Given the description of an element on the screen output the (x, y) to click on. 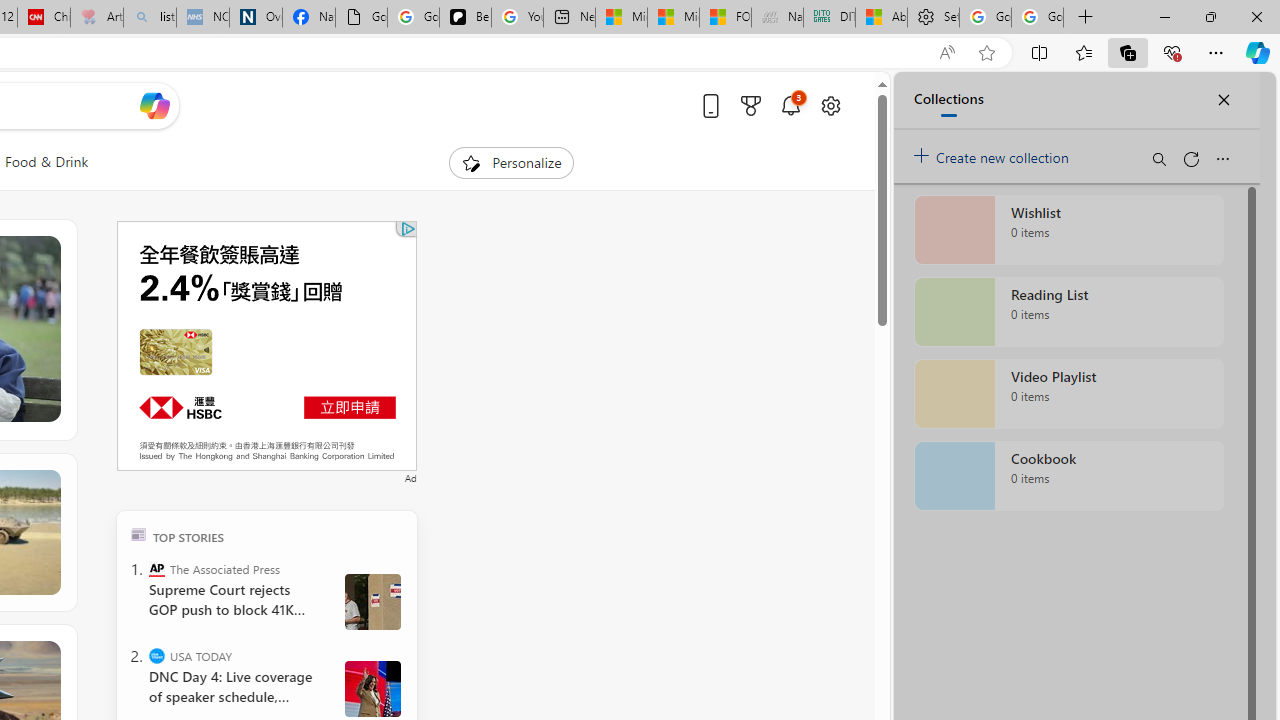
Aberdeen, Hong Kong SAR hourly forecast | Microsoft Weather (881, 17)
Arthritis: Ask Health Professionals - Sleeping (96, 17)
Be Smart | creating Science videos | Patreon (465, 17)
FOX News - MSN (725, 17)
